Given the description of an element on the screen output the (x, y) to click on. 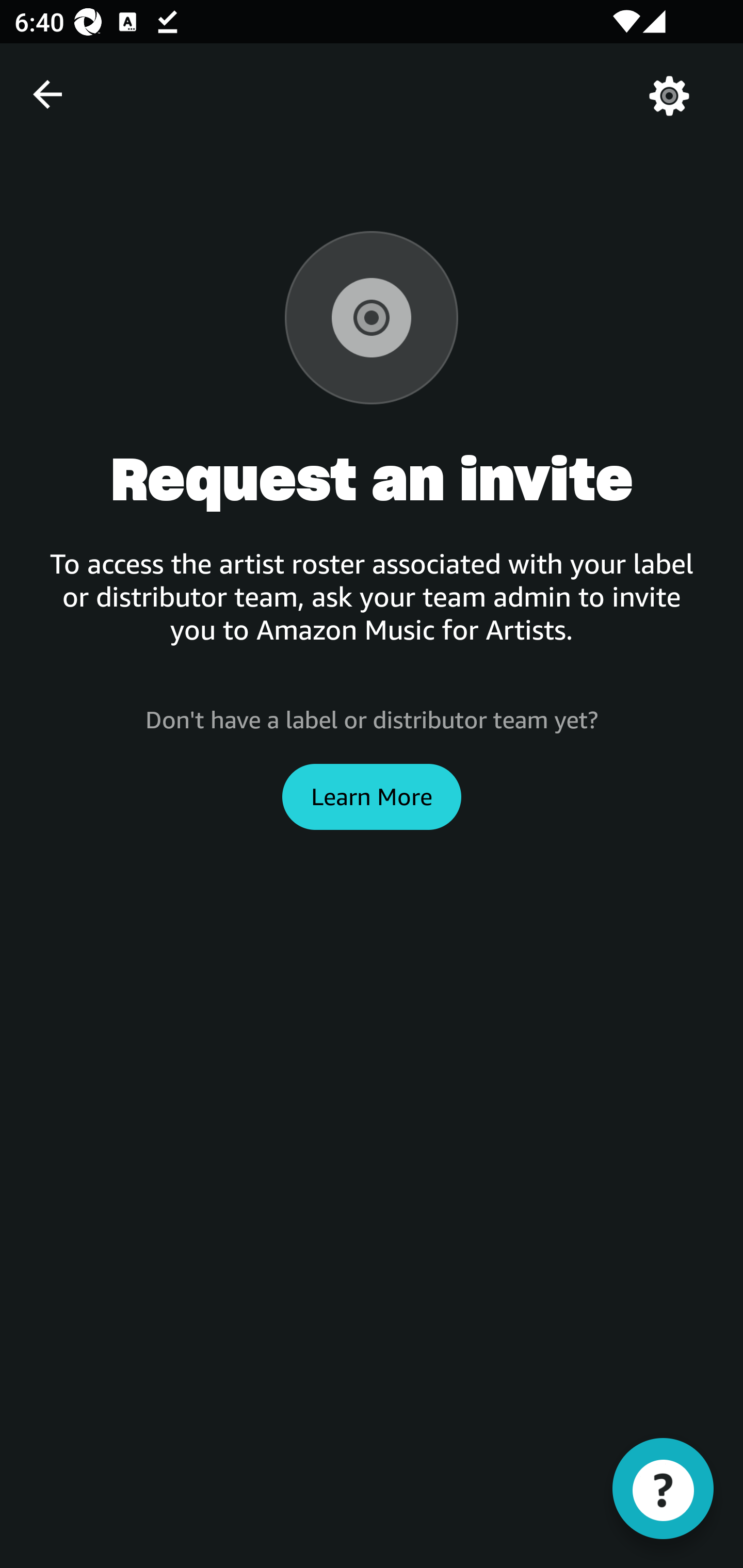
Learn more button Learn More (371, 796)
